Given the description of an element on the screen output the (x, y) to click on. 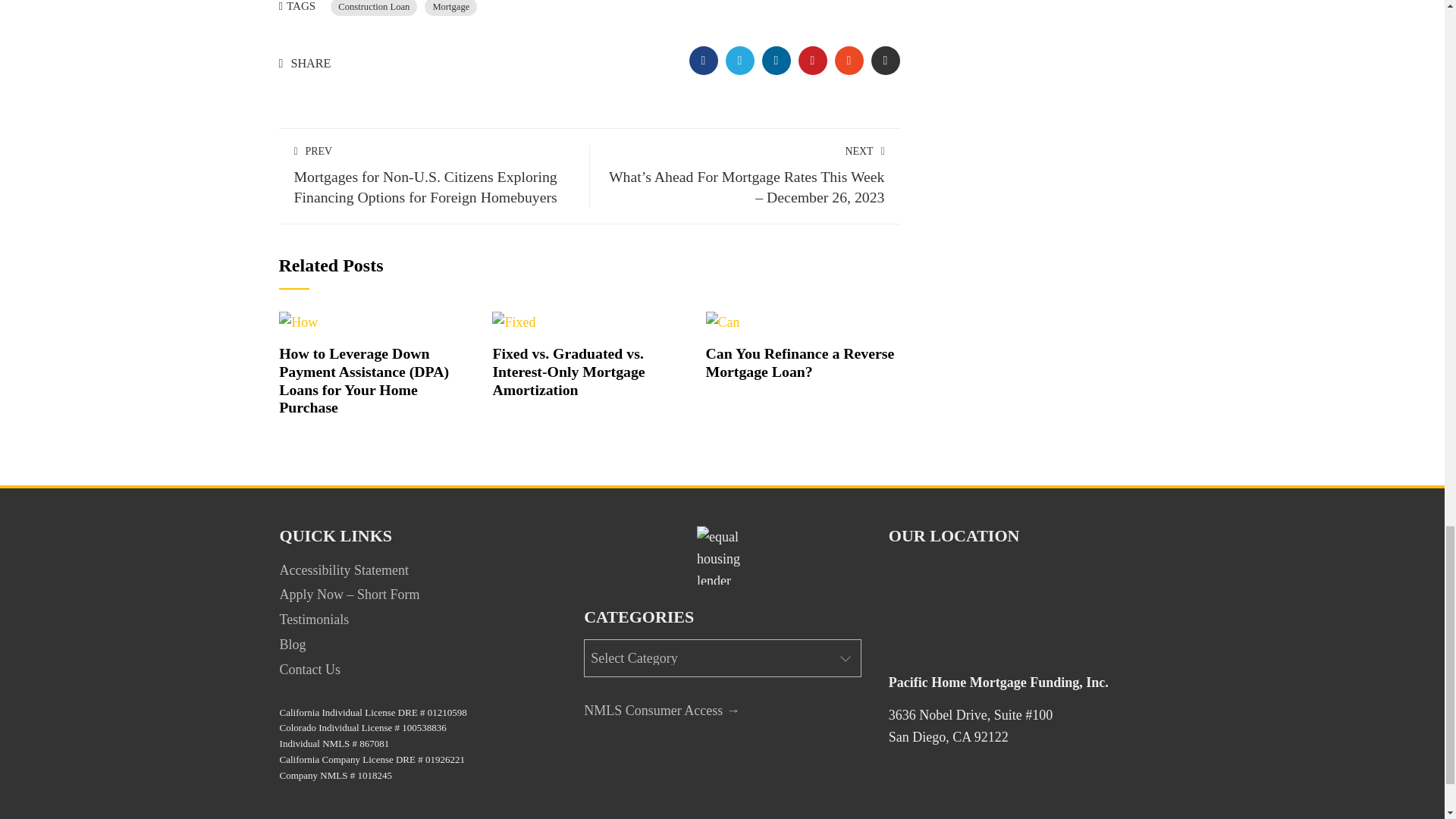
Can You Refinance a Reverse Mortgage Loan? (800, 362)
Can You Refinance a Reverse Mortgage Loan? (722, 321)
Fixed vs. Graduated vs. Interest-Only Mortgage Amortization (513, 321)
Fixed vs. Graduated vs. Interest-Only Mortgage Amortization (568, 371)
